Given the description of an element on the screen output the (x, y) to click on. 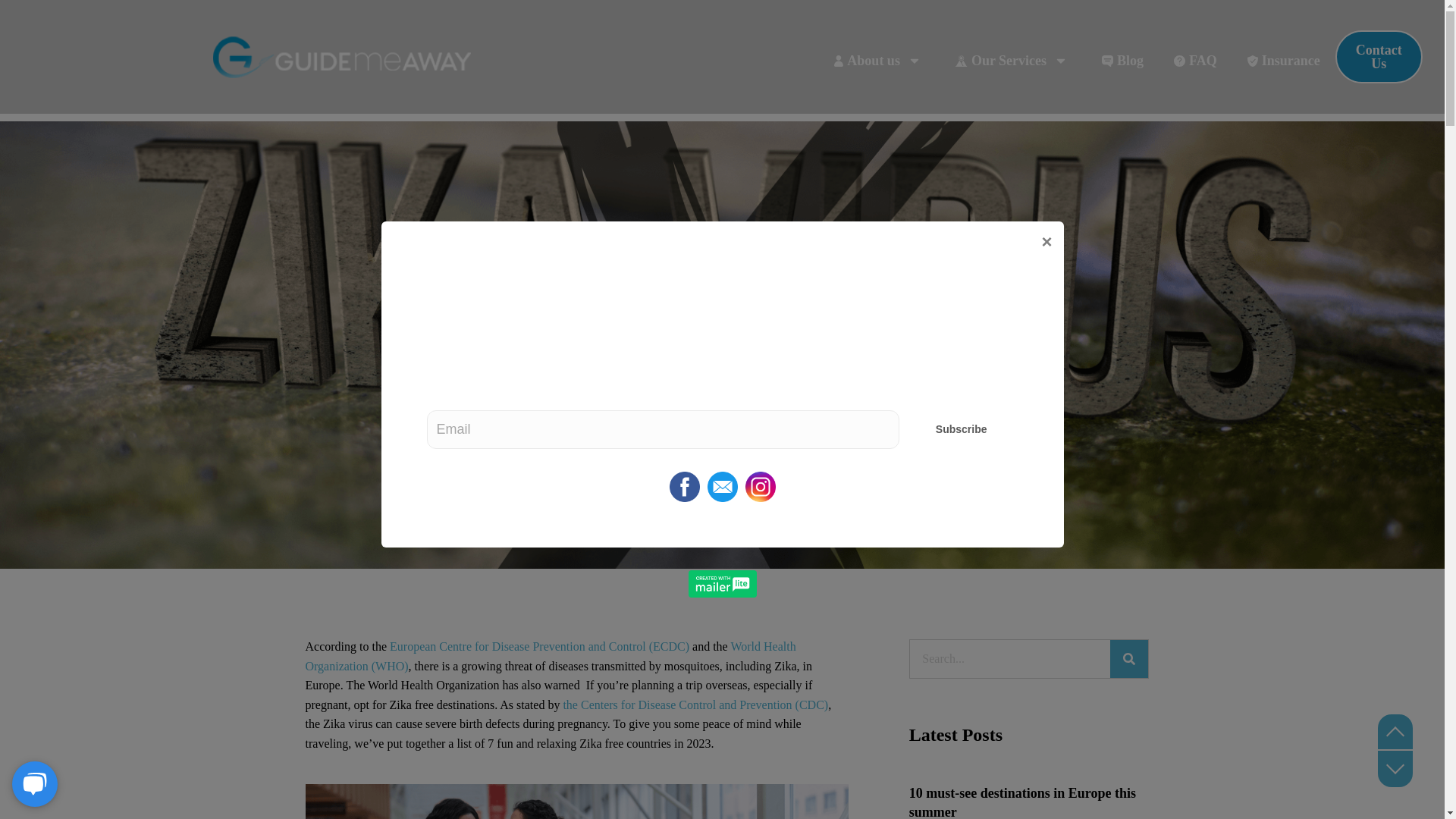
Our Services (1013, 59)
Down (1394, 769)
Chat Widget (37, 782)
About us (879, 59)
Top (1394, 731)
